Given the description of an element on the screen output the (x, y) to click on. 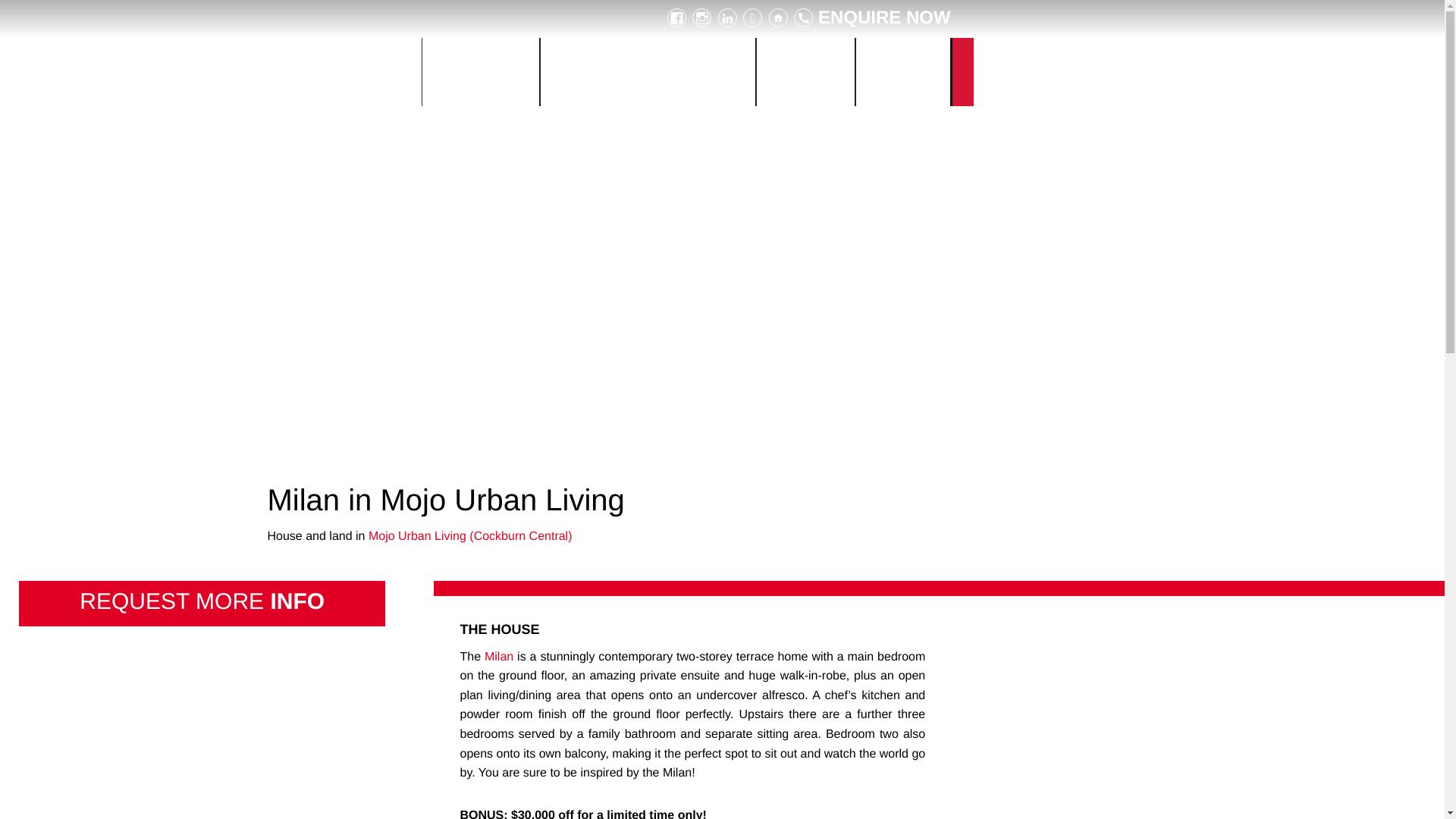
INVEST IN THE WEST (345, 71)
TURNKEY AND BUILT COMPLETE (647, 71)
CONTACT (902, 71)
Milan (498, 656)
ABOUT US (805, 71)
OUR DESIGNS (480, 71)
ENQUIRE NOW (871, 16)
